Given the description of an element on the screen output the (x, y) to click on. 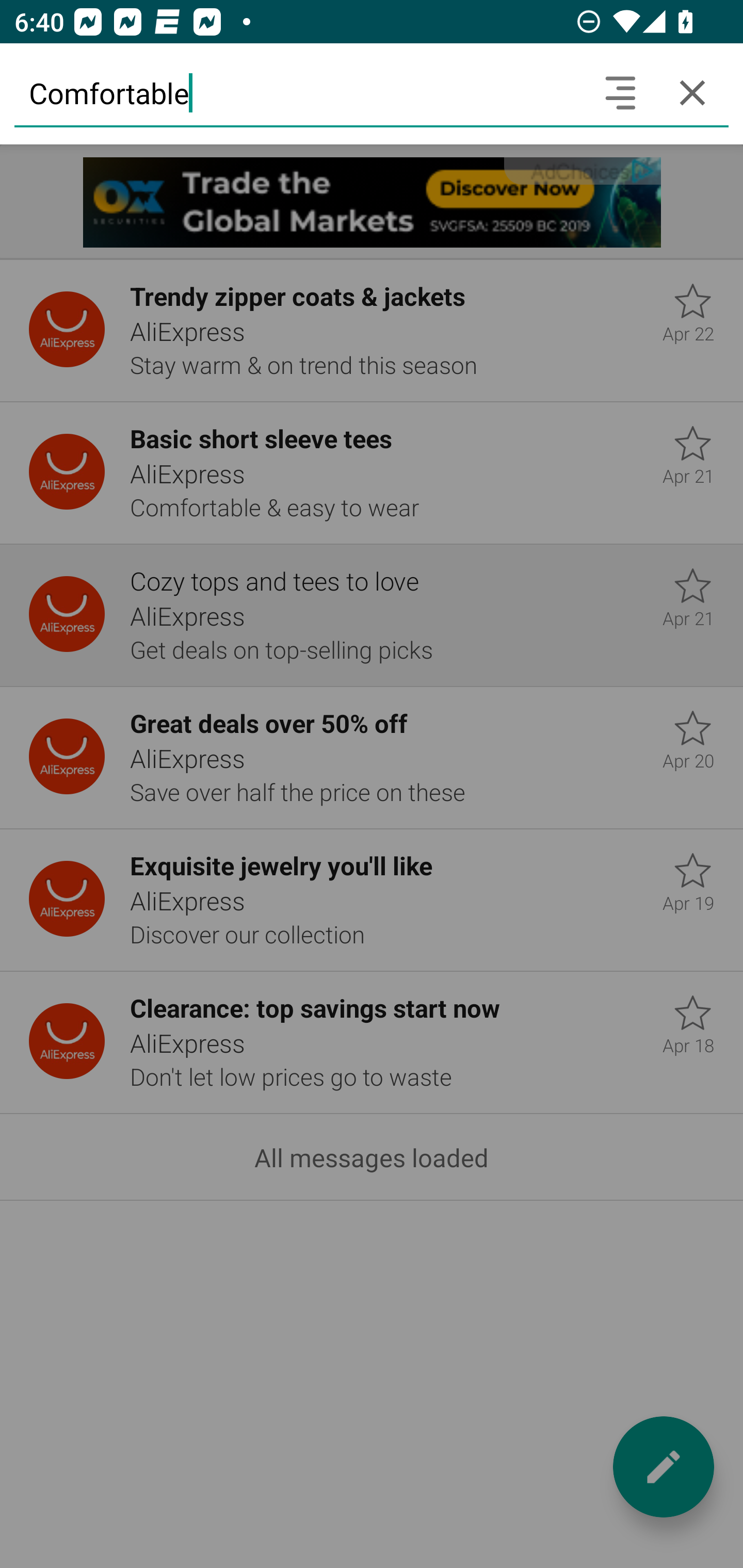
Comfortable (298, 92)
Search headers and text (619, 92)
Cancel (692, 92)
